Given the description of an element on the screen output the (x, y) to click on. 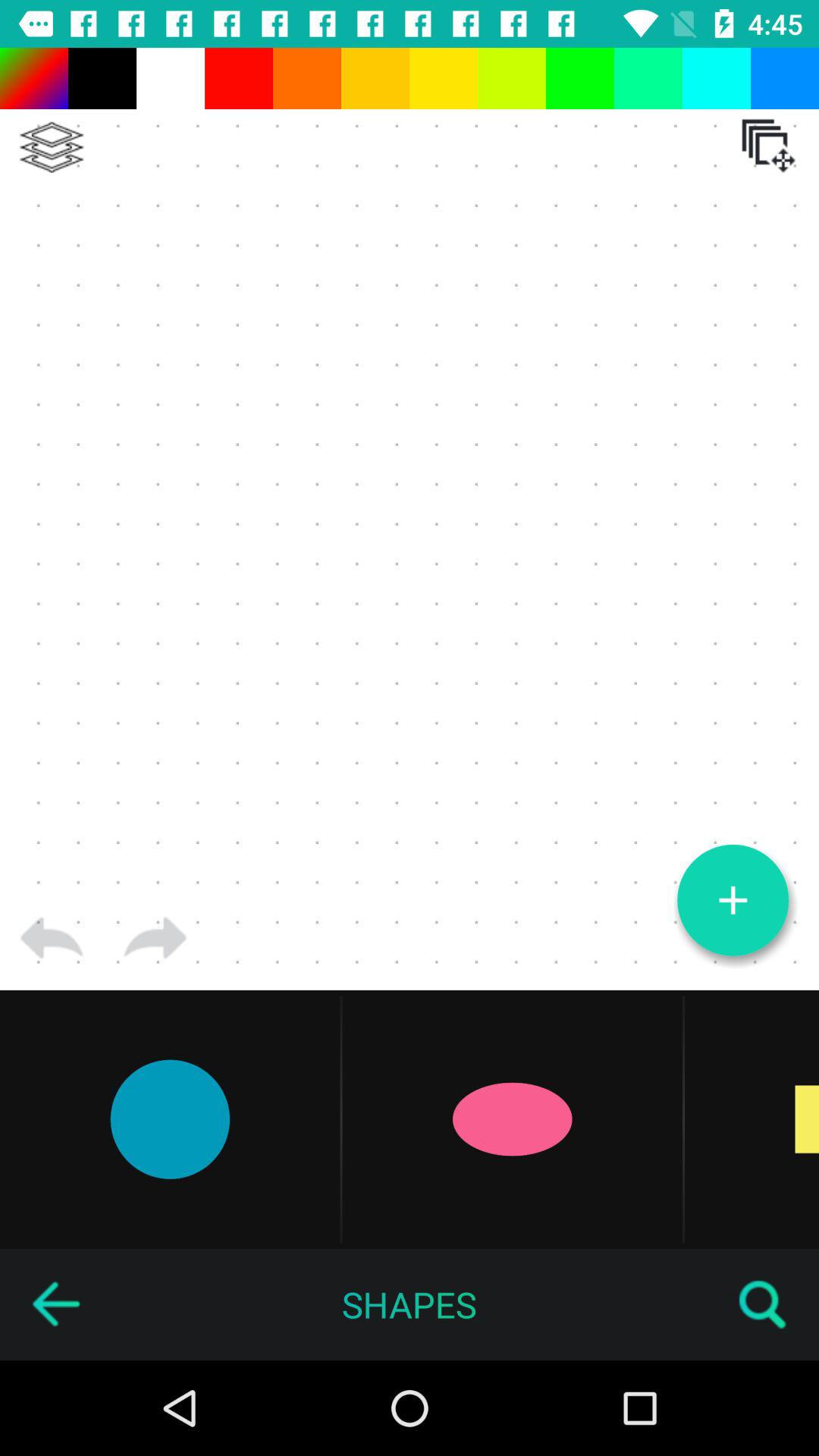
turn on item next to shapes (763, 1304)
